Given the description of an element on the screen output the (x, y) to click on. 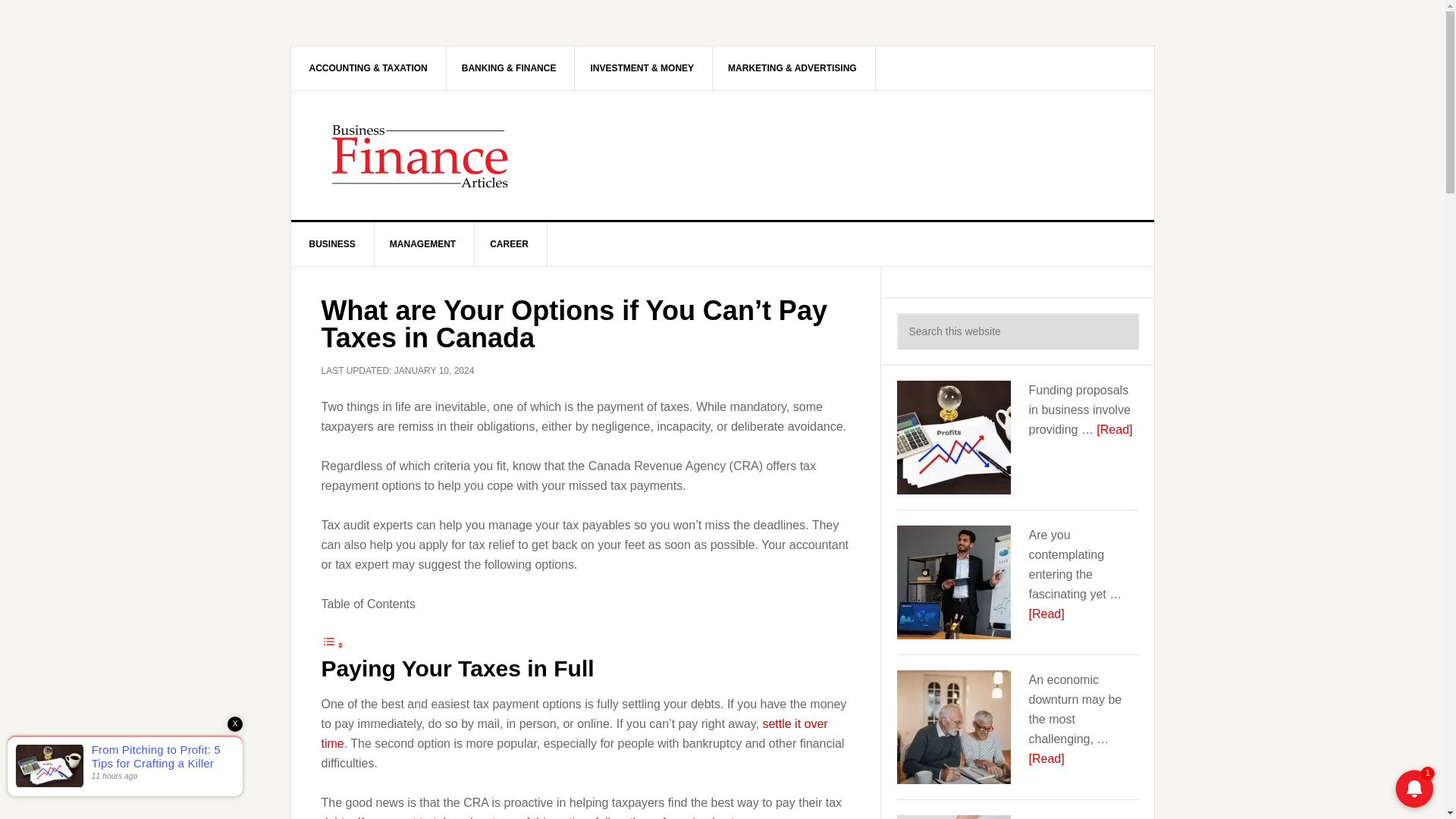
BUSINESS (332, 243)
MANAGEMENT (422, 243)
settle it over time (574, 733)
BUSINESS FINANCE ARTICLES (419, 155)
CAREER (509, 243)
